Given the description of an element on the screen output the (x, y) to click on. 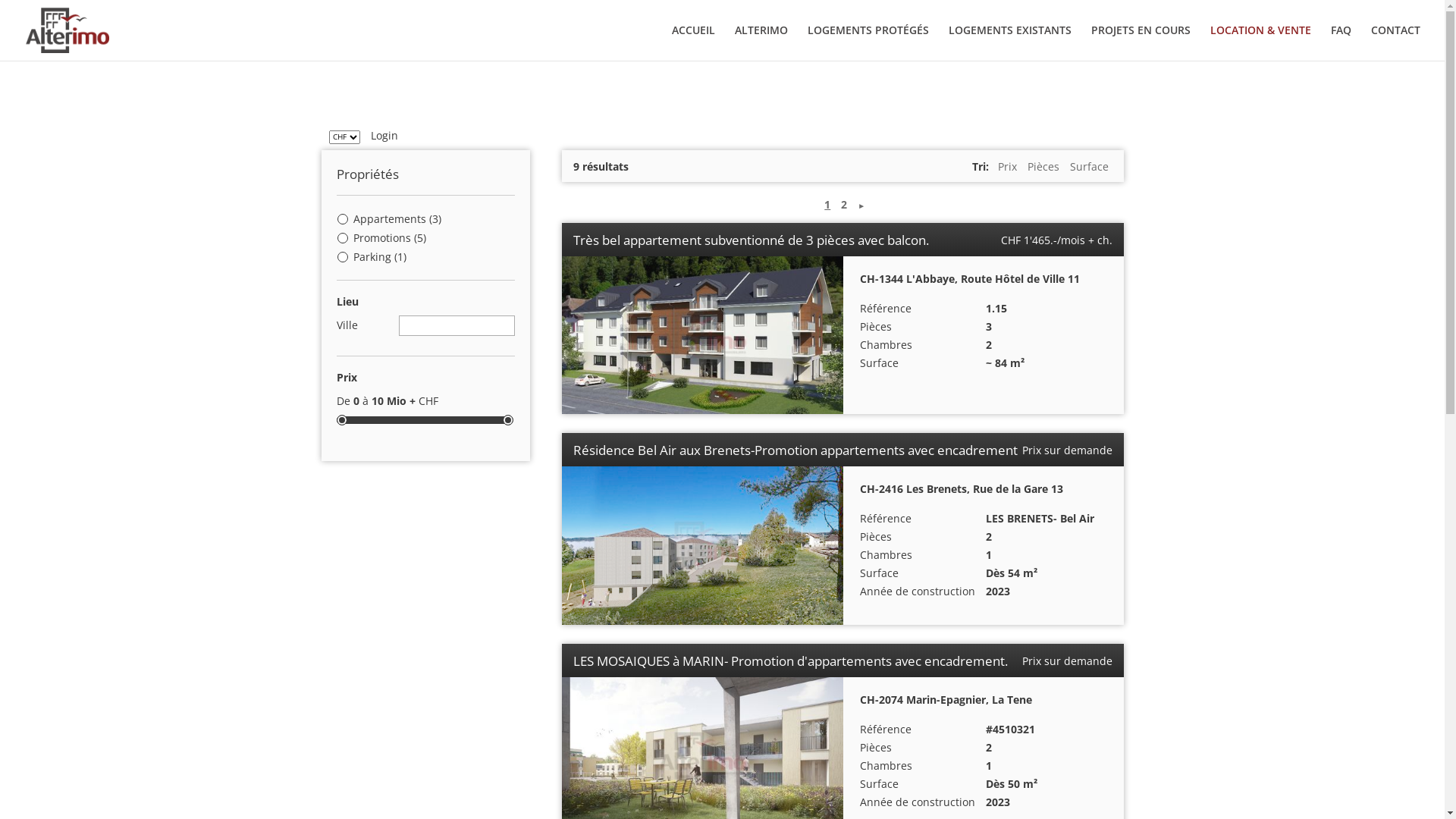
LOGEMENTS EXISTANTS Element type: text (1009, 42)
CONTACT Element type: text (1395, 42)
ALTERIMO Element type: text (760, 42)
FAQ Element type: text (1340, 42)
ACCUEIL Element type: text (693, 42)
PROJETS EN COURS Element type: text (1140, 42)
LOCATION & VENTE Element type: text (1260, 42)
